Given the description of an element on the screen output the (x, y) to click on. 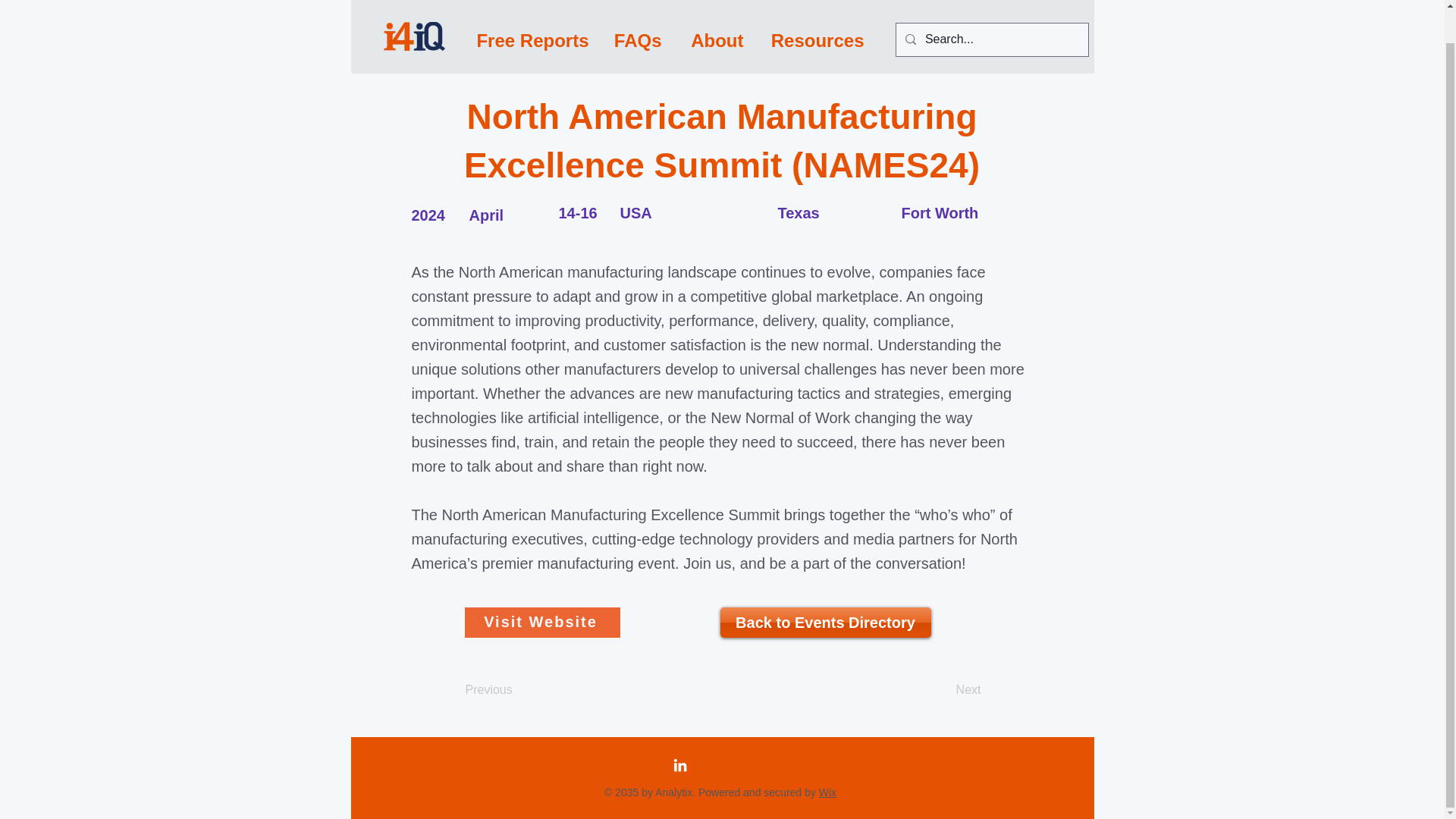
Resources (815, 8)
Next (943, 689)
Visit Website (542, 622)
Free Reports (530, 8)
FAQs (635, 8)
Back to Events Directory (825, 622)
Previous (515, 689)
Wix (826, 792)
About (713, 8)
